Given the description of an element on the screen output the (x, y) to click on. 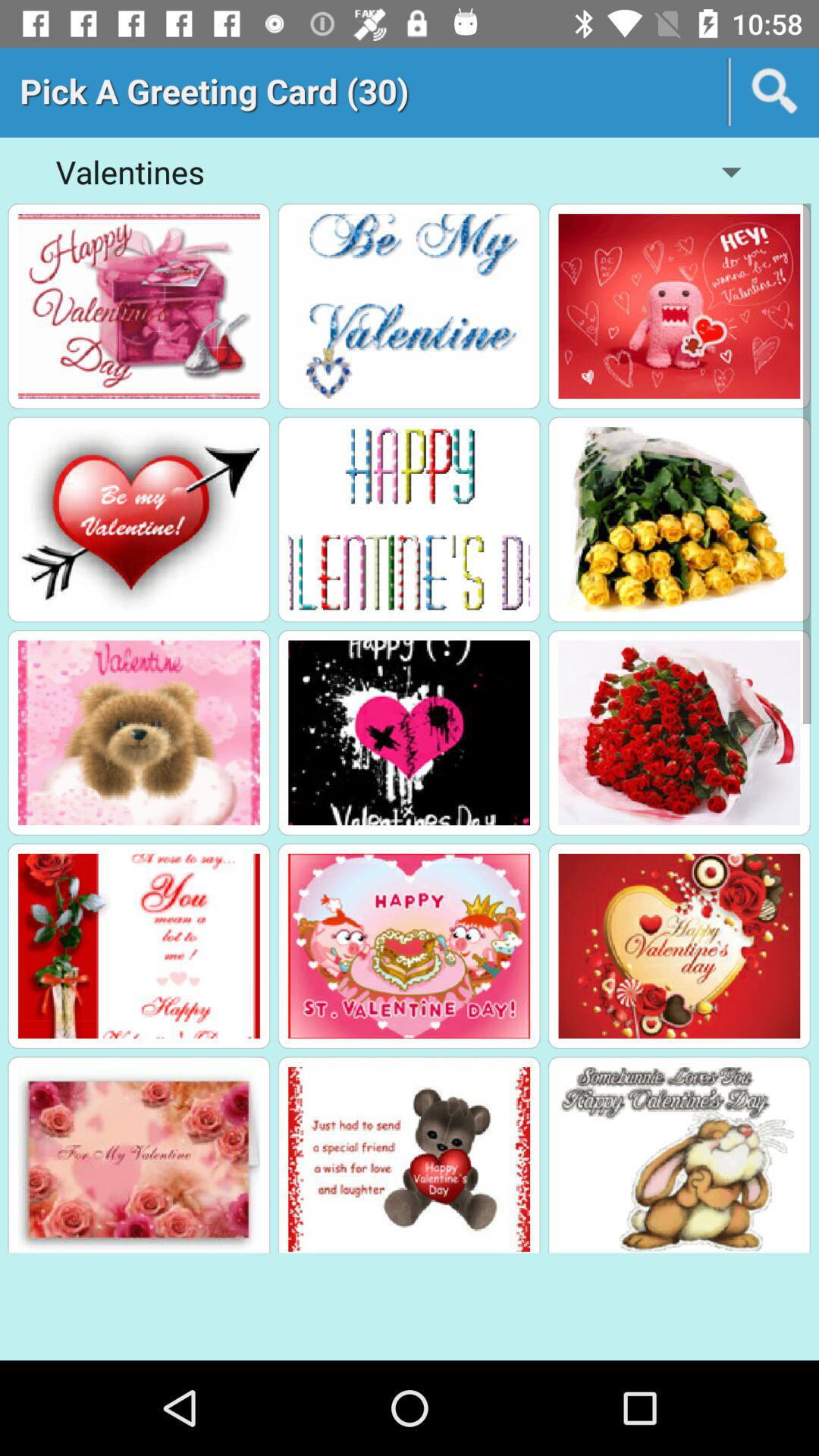
teddy bear (409, 1158)
